Given the description of an element on the screen output the (x, y) to click on. 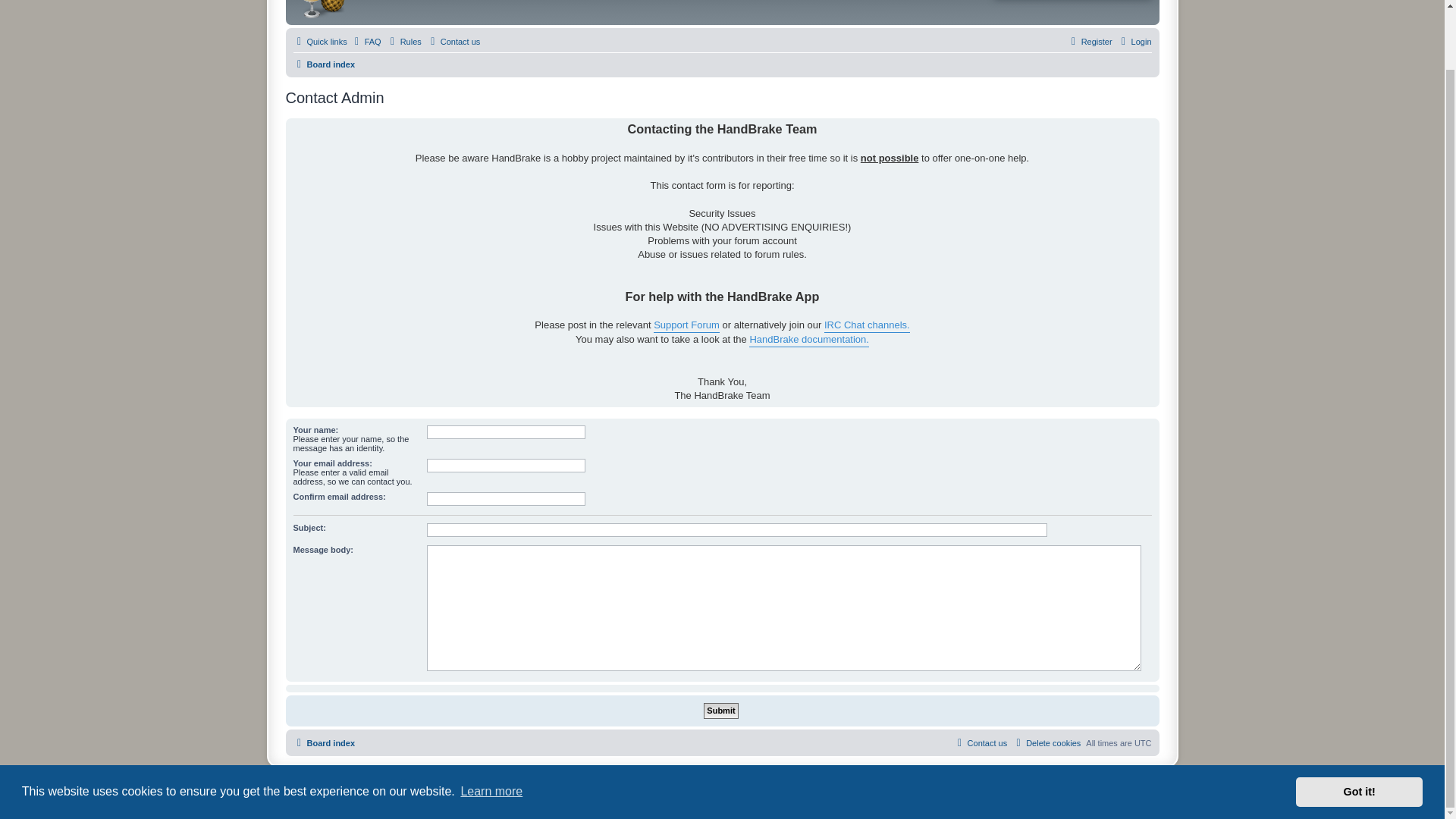
Got it! (1358, 726)
UTC (1142, 742)
Learn more (491, 725)
Frequently Asked Questions (365, 41)
Submit (720, 710)
Privacy (707, 795)
Rules (404, 41)
Terms (737, 795)
Support Forum (686, 325)
HandBrake documentation. (809, 339)
Terms (737, 795)
phpBB (682, 781)
Register (1089, 41)
Delete cookies (1045, 742)
FAQ (365, 41)
